Given the description of an element on the screen output the (x, y) to click on. 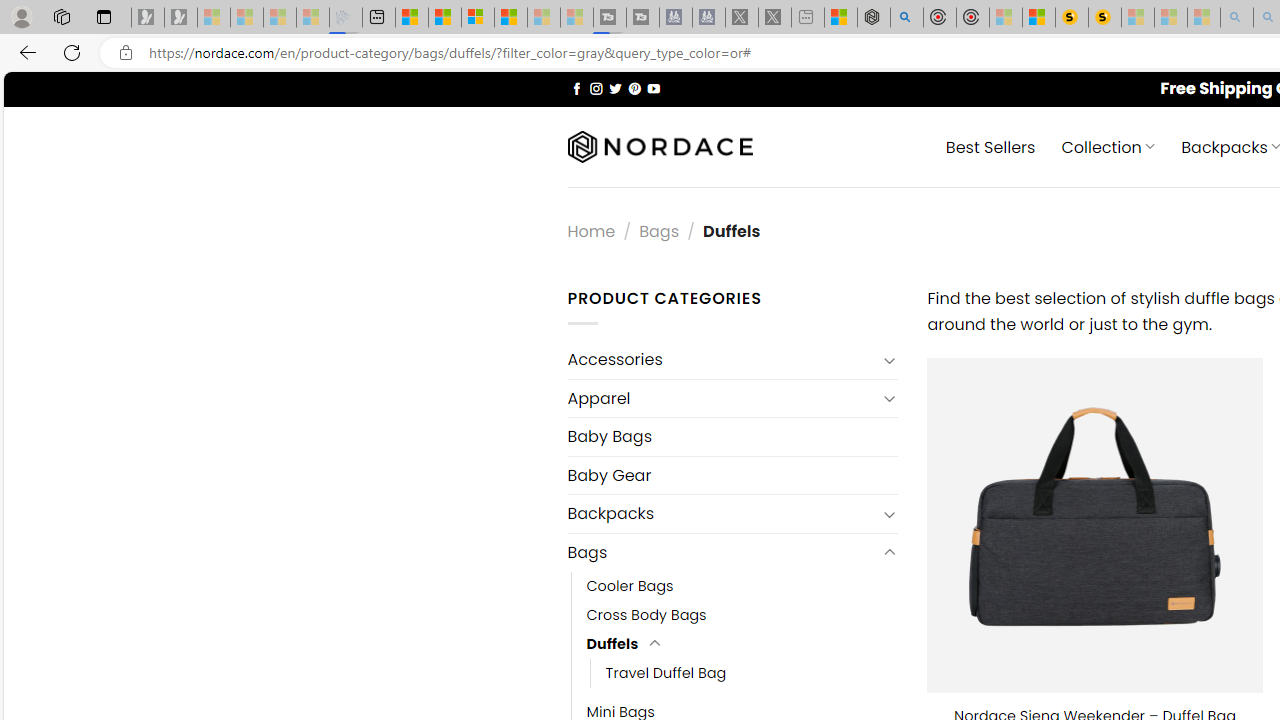
Baby Gear (732, 475)
Backpacks (721, 514)
Cross Body Bags (646, 614)
